Given the description of an element on the screen output the (x, y) to click on. 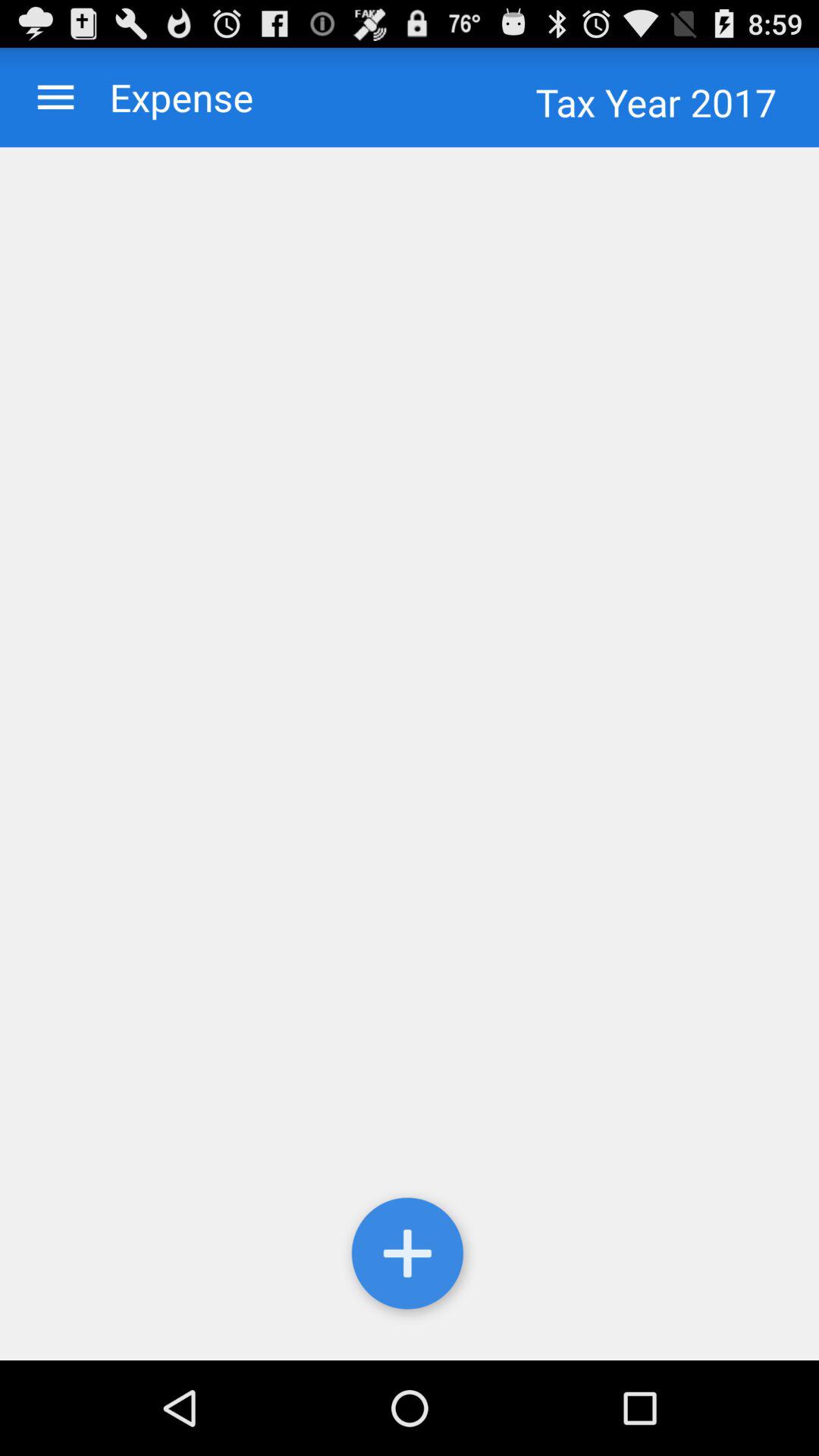
add input (409, 1256)
